Given the description of an element on the screen output the (x, y) to click on. 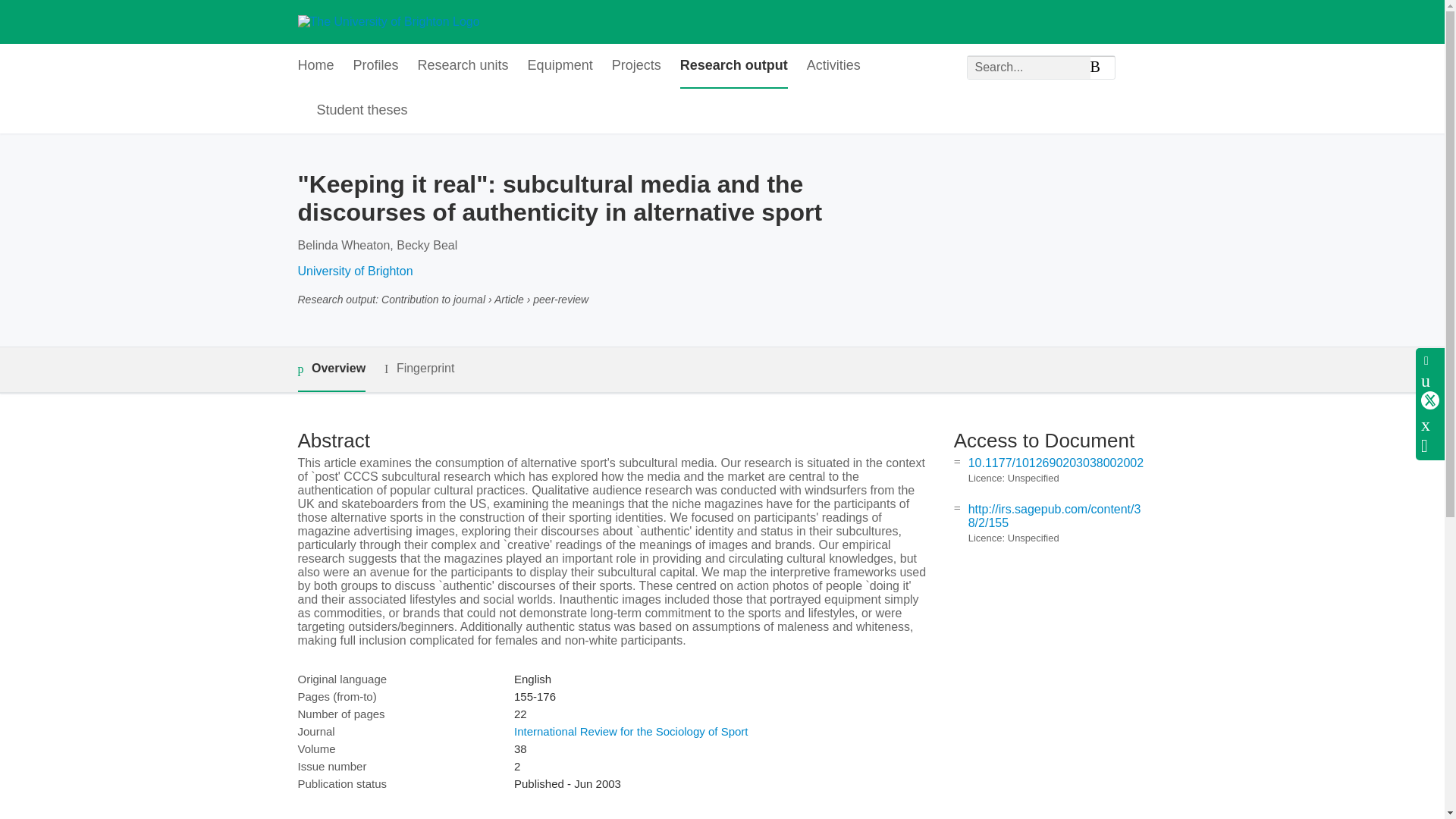
Research output (733, 66)
Home (315, 66)
Equipment (559, 66)
Profiles (375, 66)
Overview (331, 369)
Fingerprint (419, 368)
The University of Brighton Home (388, 21)
Student theses (362, 110)
Research units (462, 66)
International Review for the Sociology of Sport (630, 730)
University of Brighton (354, 270)
Activities (833, 66)
Projects (636, 66)
